Given the description of an element on the screen output the (x, y) to click on. 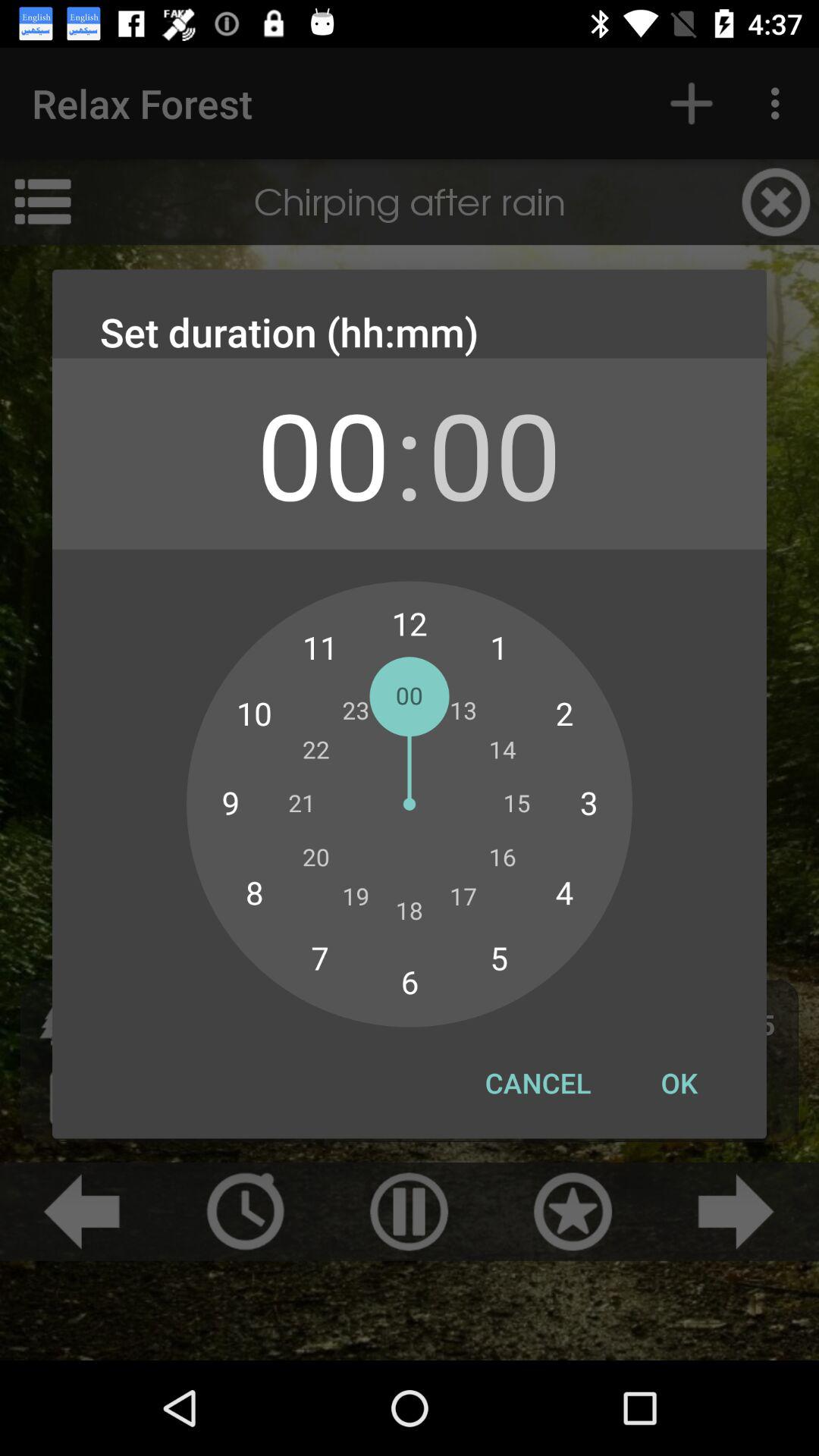
choose the item to the left of ok (538, 1082)
